Given the description of an element on the screen output the (x, y) to click on. 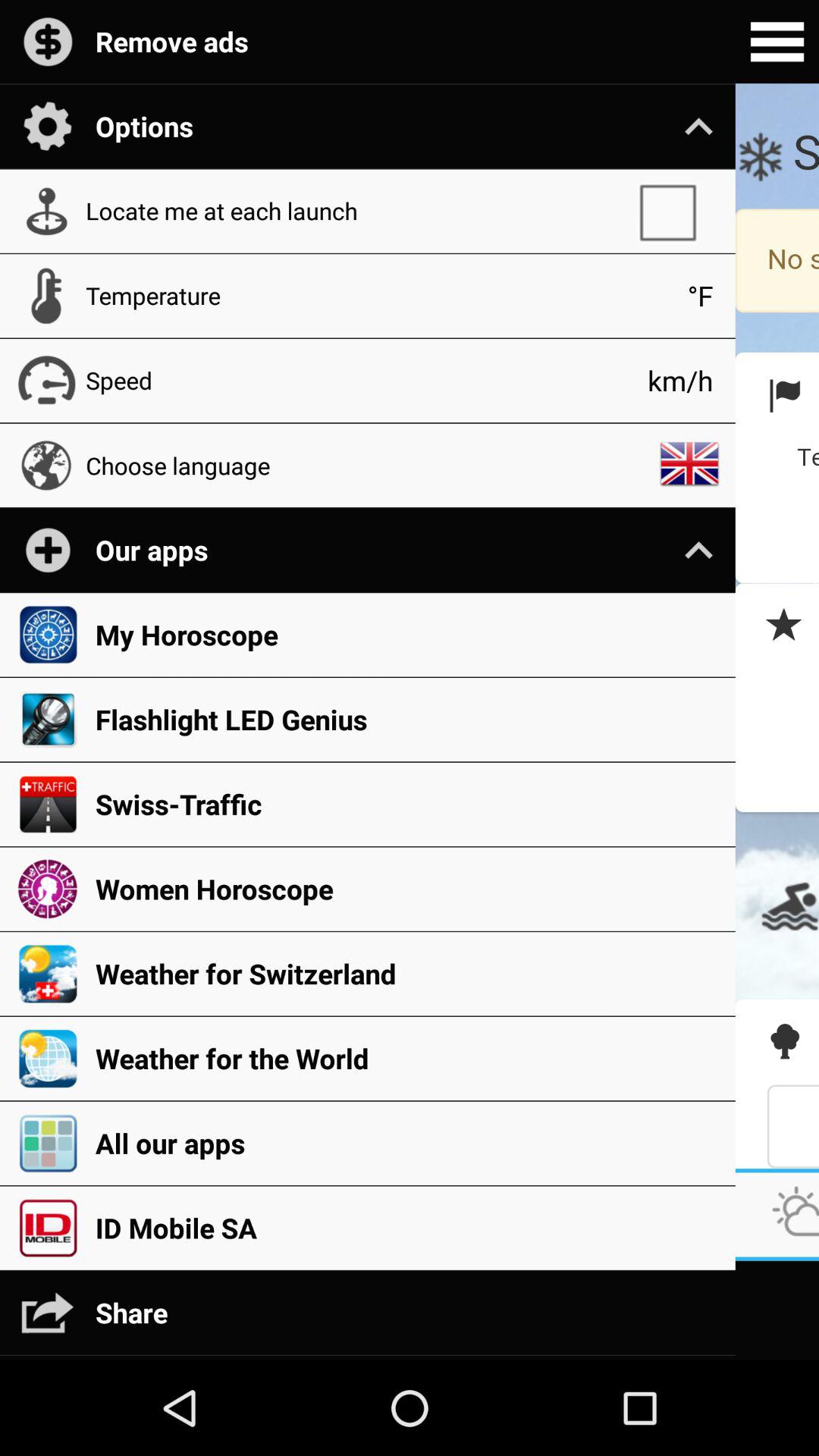
choose the share app (407, 1312)
